Given the description of an element on the screen output the (x, y) to click on. 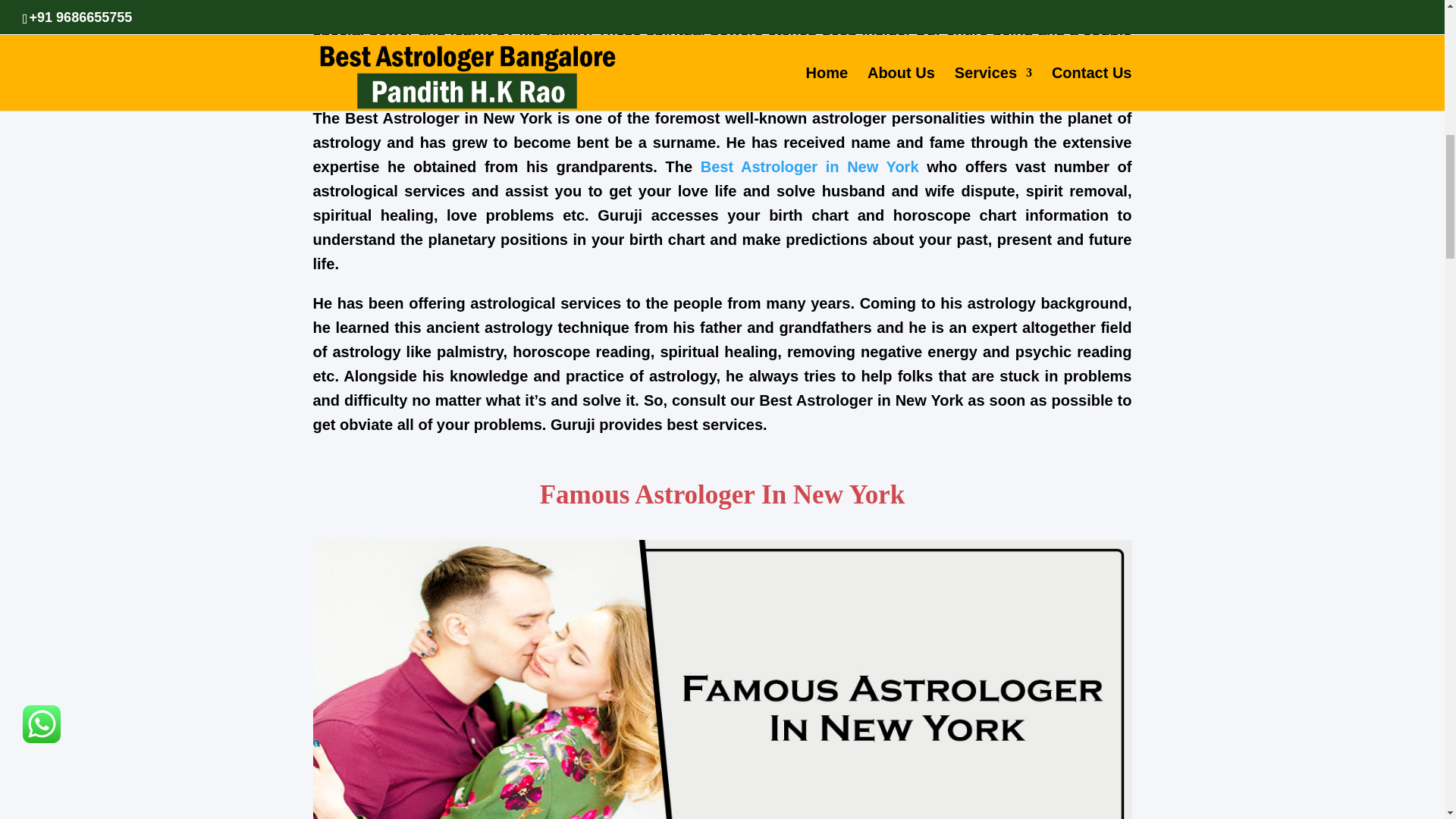
Best Astrologer in New York (809, 166)
